Given the description of an element on the screen output the (x, y) to click on. 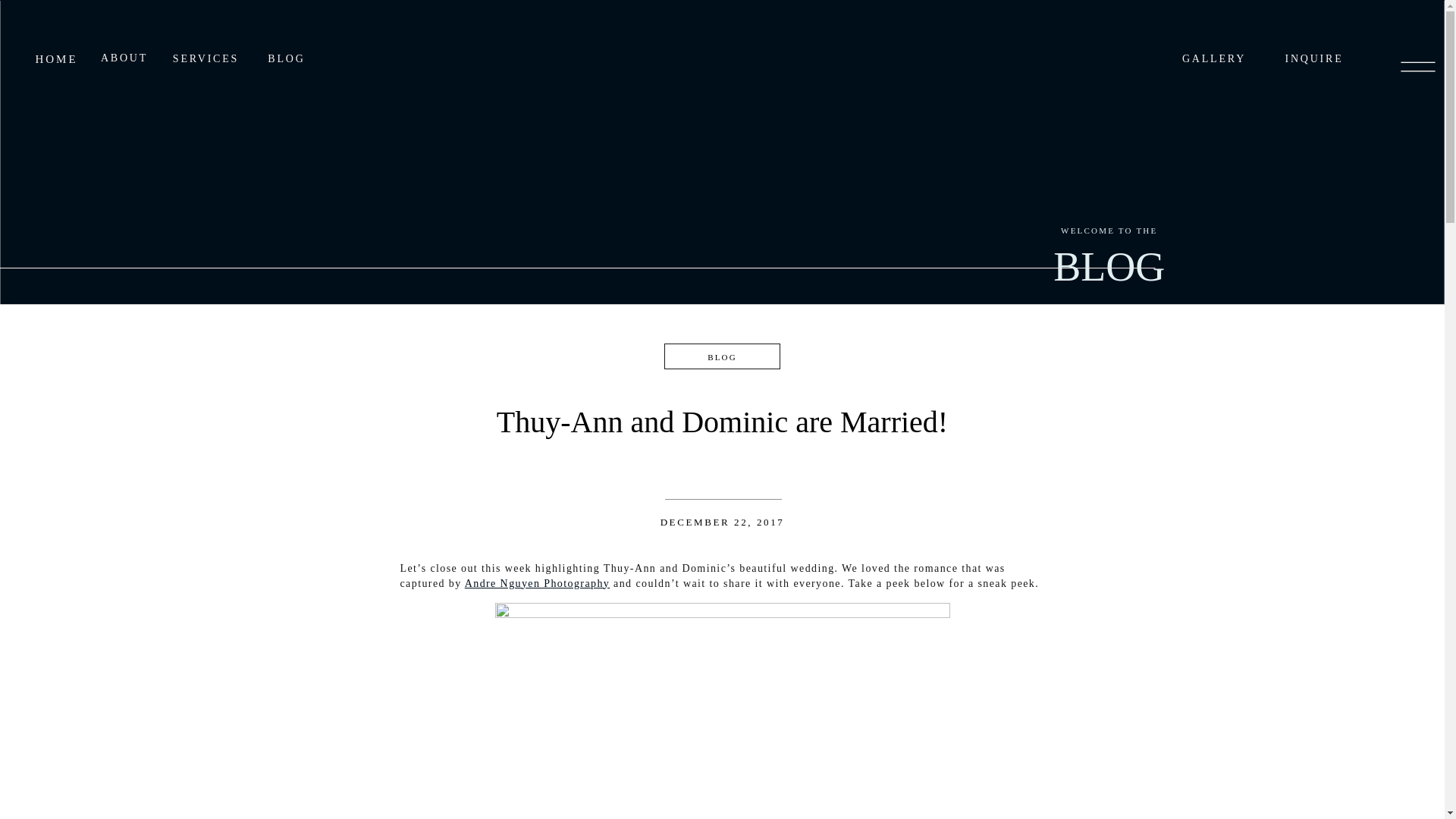
GALLERY (1213, 58)
BLOG (721, 356)
SERVICES (205, 58)
ABOUT (124, 58)
HOME (56, 58)
Andre Nguyen Photography (537, 583)
INQUIRE (1313, 58)
BLOG (286, 58)
